Given the description of an element on the screen output the (x, y) to click on. 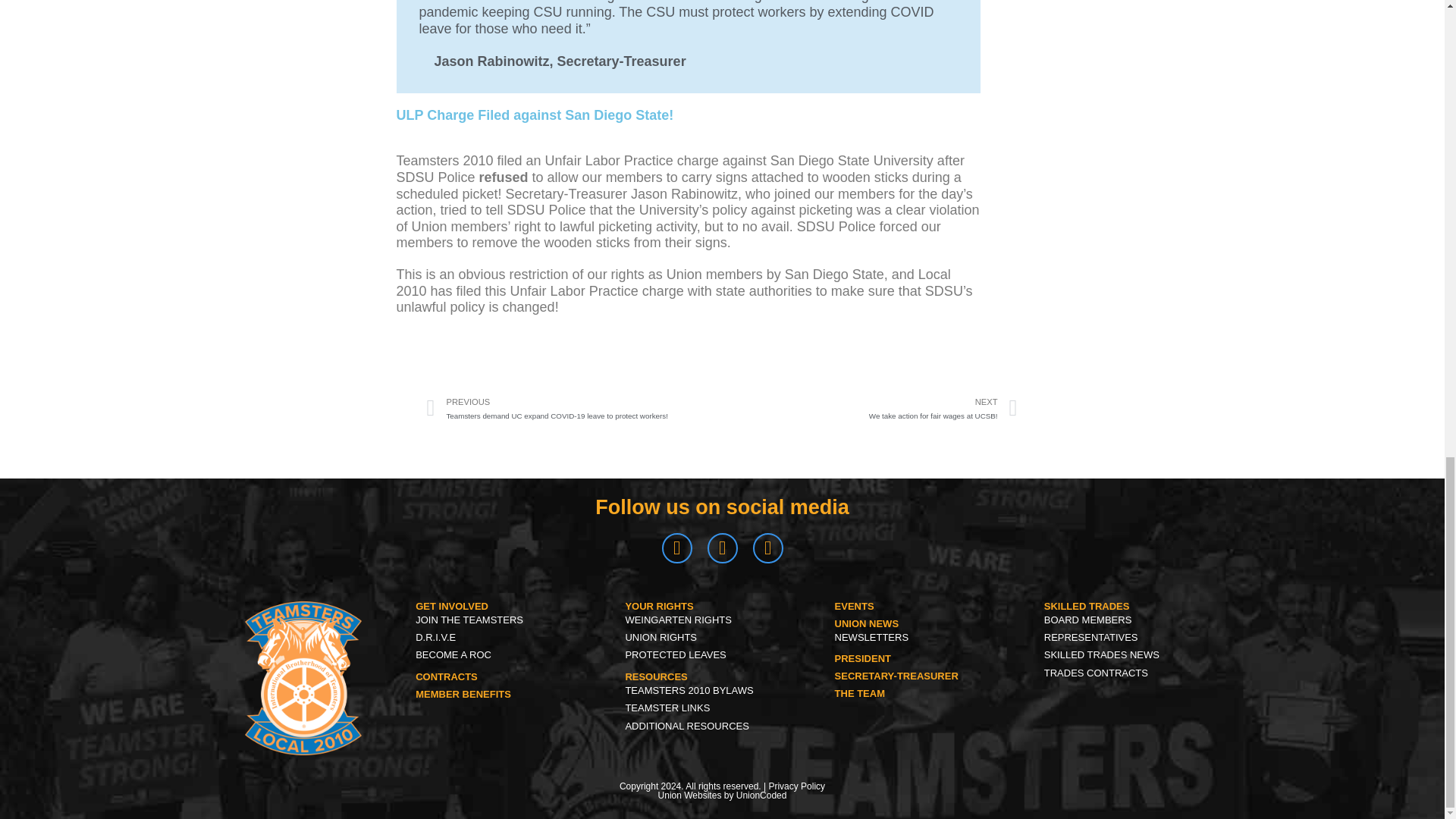
WEINGARTEN RIGHTS (721, 619)
TEAMSTER LINKS (721, 707)
THE TEAM (859, 693)
SECRETARY-TREASURER (896, 675)
BOARD MEMBERS (869, 408)
JOIN THE TEAMSTERS (1141, 619)
PRESIDENT (512, 619)
CONTRACTS (862, 658)
EVENTS (445, 676)
UNION NEWS (854, 605)
SKILLED TRADES (866, 623)
MEMBER BENEFITS (1086, 605)
ADDITIONAL RESOURCES (462, 694)
